Given the description of an element on the screen output the (x, y) to click on. 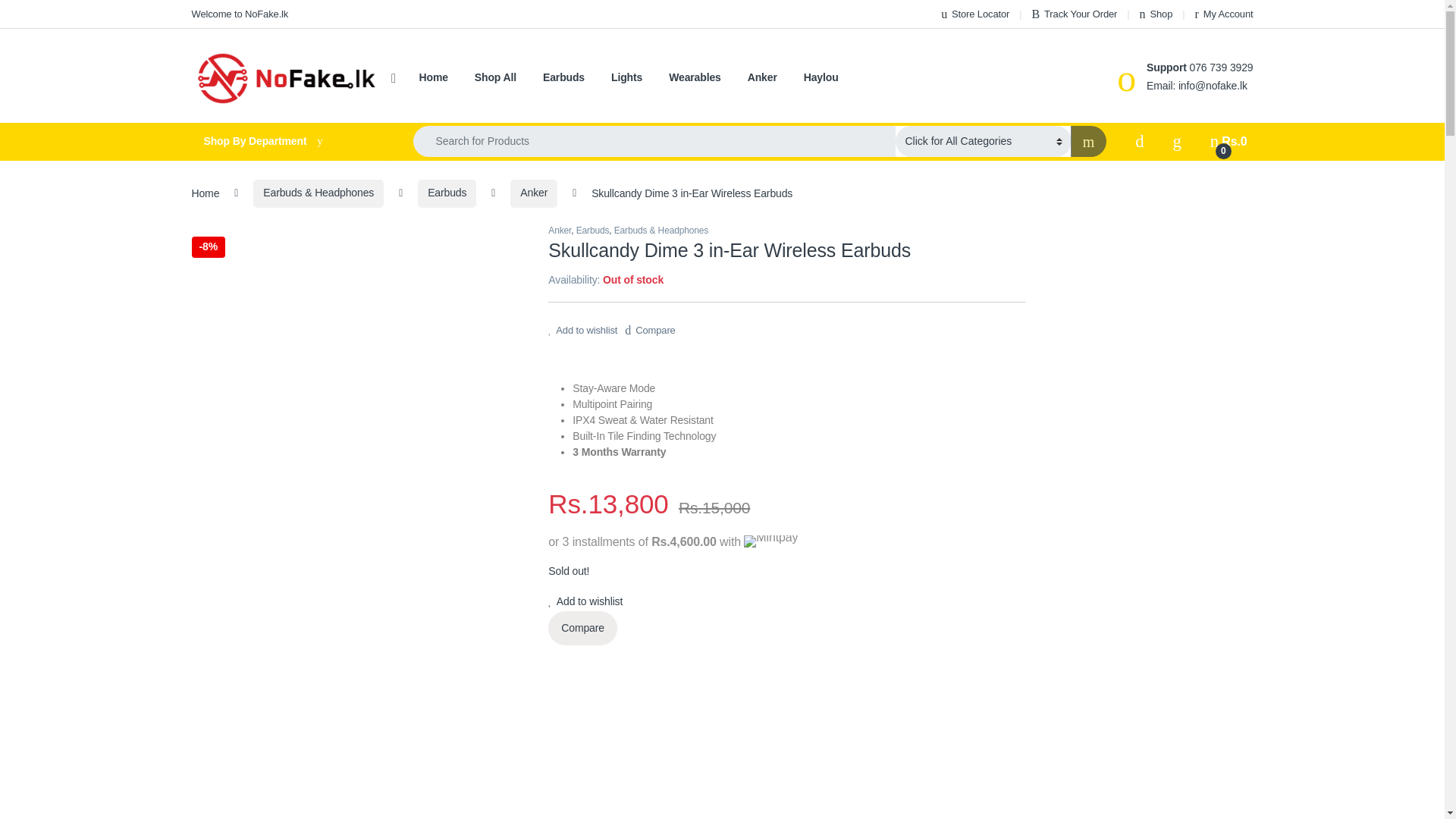
Store Locator (974, 13)
Shop (1156, 13)
My Account (1224, 13)
Store Locator (974, 13)
Track Your Order (1073, 13)
Shop (1156, 13)
My Account (1224, 13)
Welcome to NoFake.lk (239, 13)
Track Your Order (1073, 13)
Welcome to NoFake.lk (239, 13)
